Given the description of an element on the screen output the (x, y) to click on. 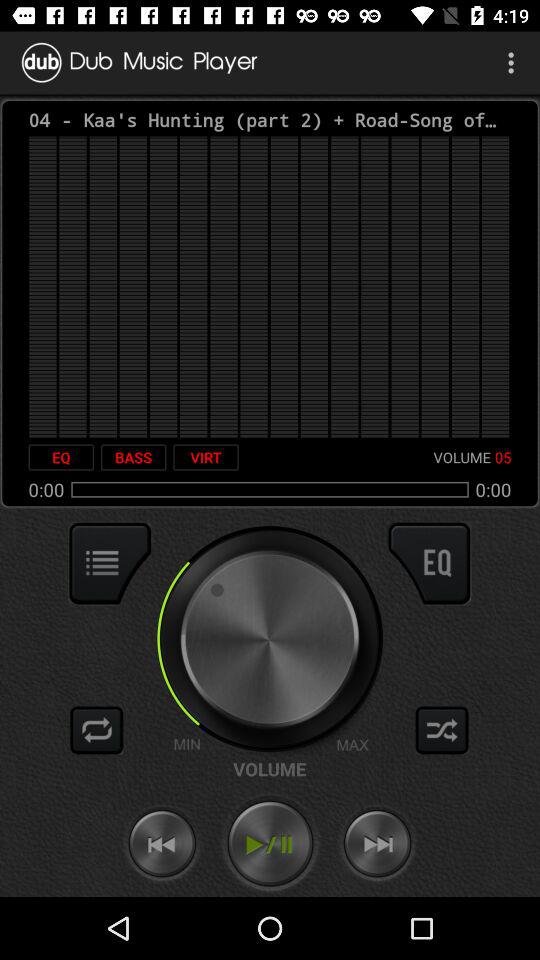
open the   eq (61, 457)
